Given the description of an element on the screen output the (x, y) to click on. 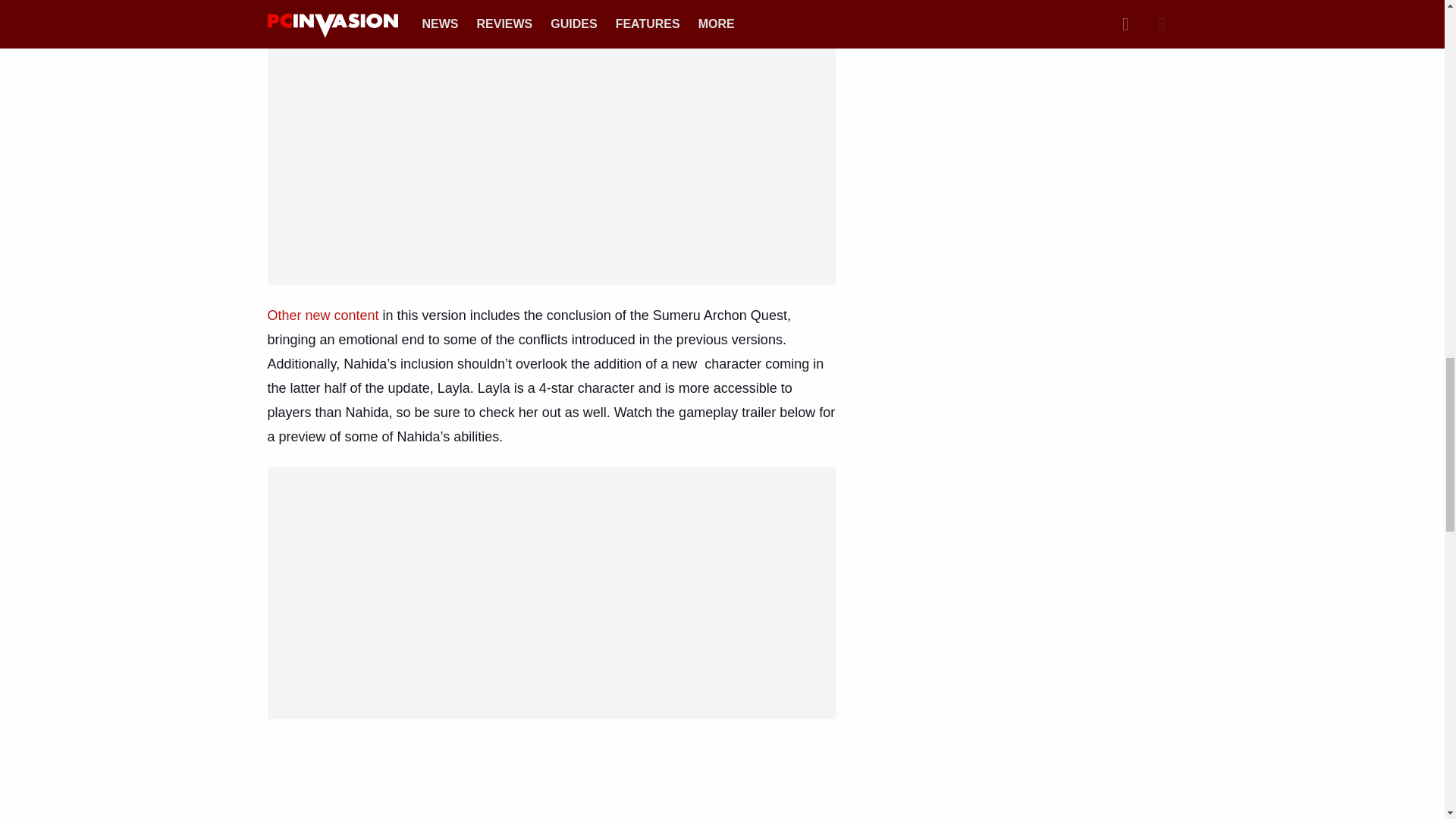
Other new content (322, 314)
